Given the description of an element on the screen output the (x, y) to click on. 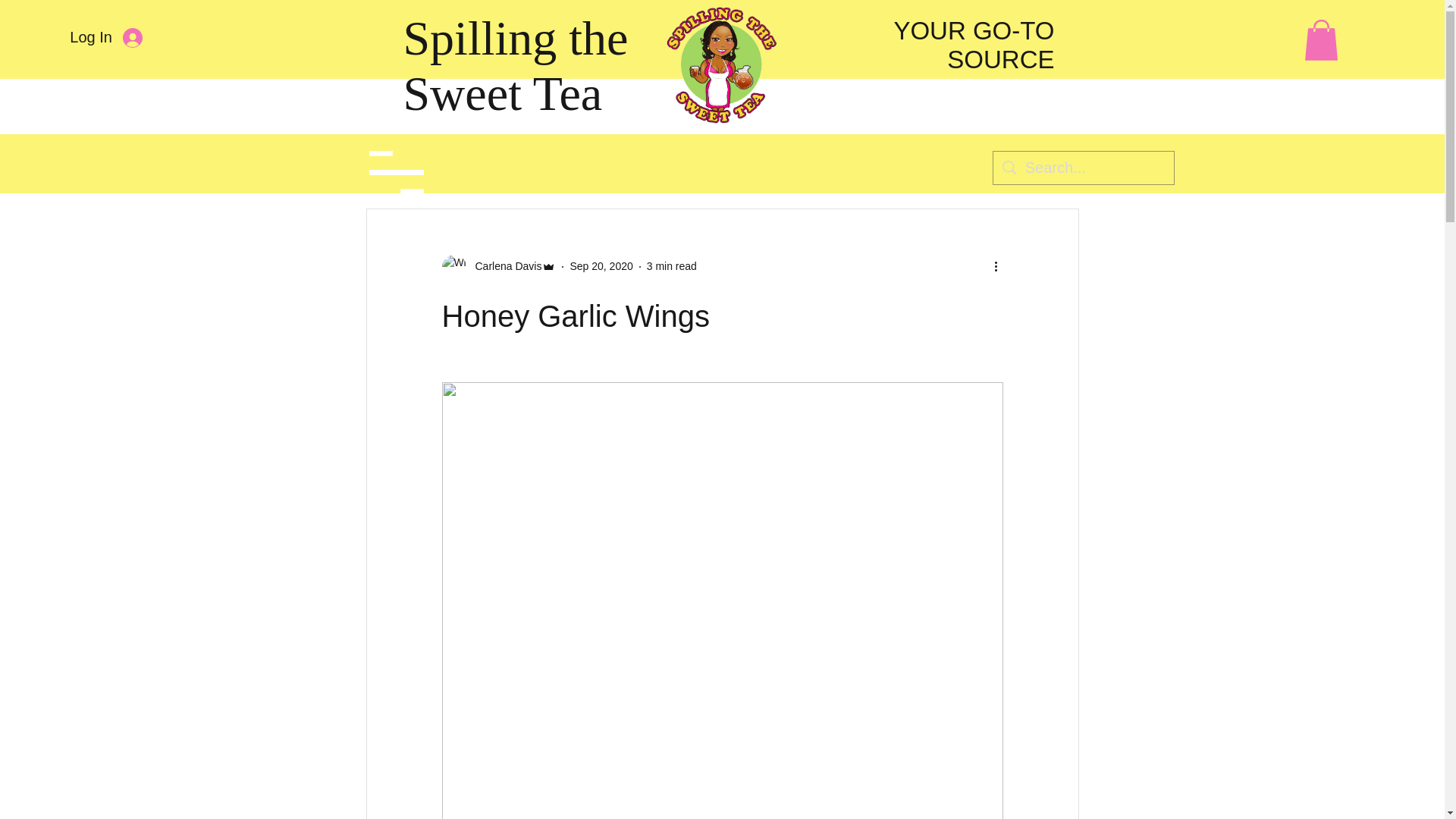
3 min read (671, 265)
Log In (105, 36)
Sep 20, 2020 (600, 265)
Carlena Davis (503, 266)
Carlena Davis (498, 266)
